Given the description of an element on the screen output the (x, y) to click on. 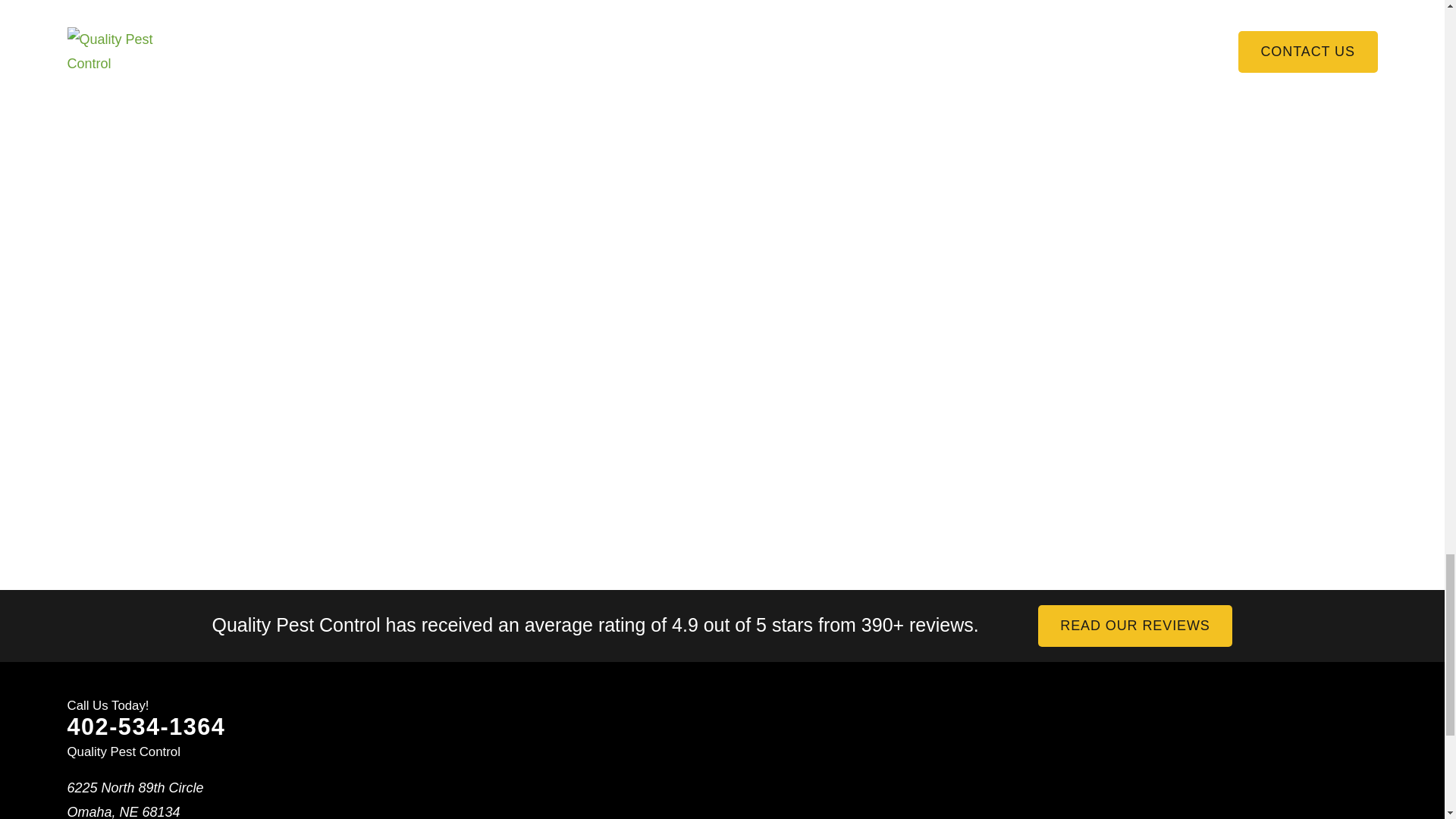
0 Star Rating (595, 643)
